Given the description of an element on the screen output the (x, y) to click on. 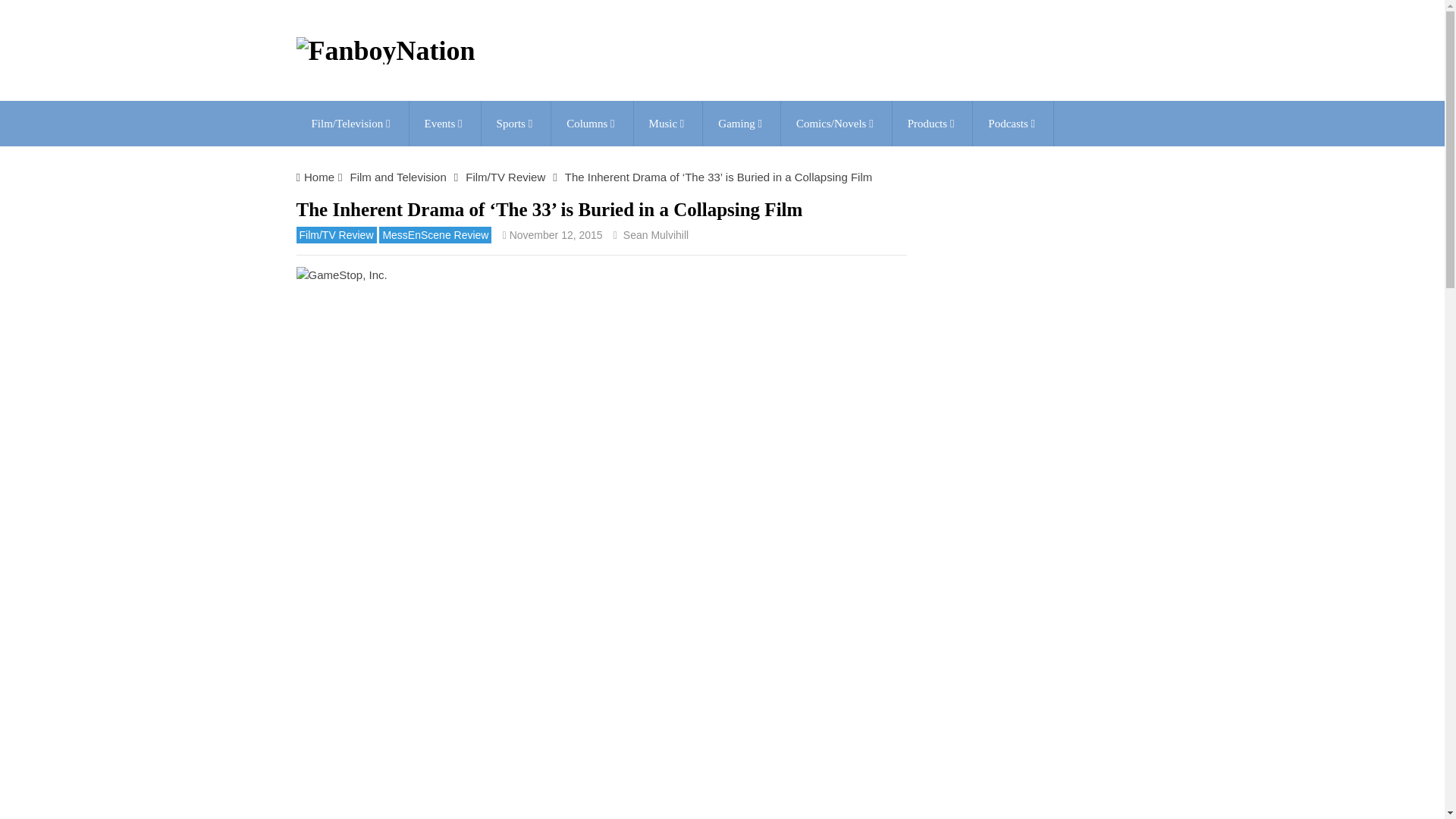
Podcasts (1012, 123)
Film and Television (397, 176)
Products (932, 123)
Cons and Expos (444, 123)
Gaming (741, 123)
Sports (516, 123)
MessEnScene Review (435, 234)
Columns (591, 123)
Sean Mulvihill (655, 234)
Home (319, 176)
Music (668, 123)
Events (444, 123)
